Given the description of an element on the screen output the (x, y) to click on. 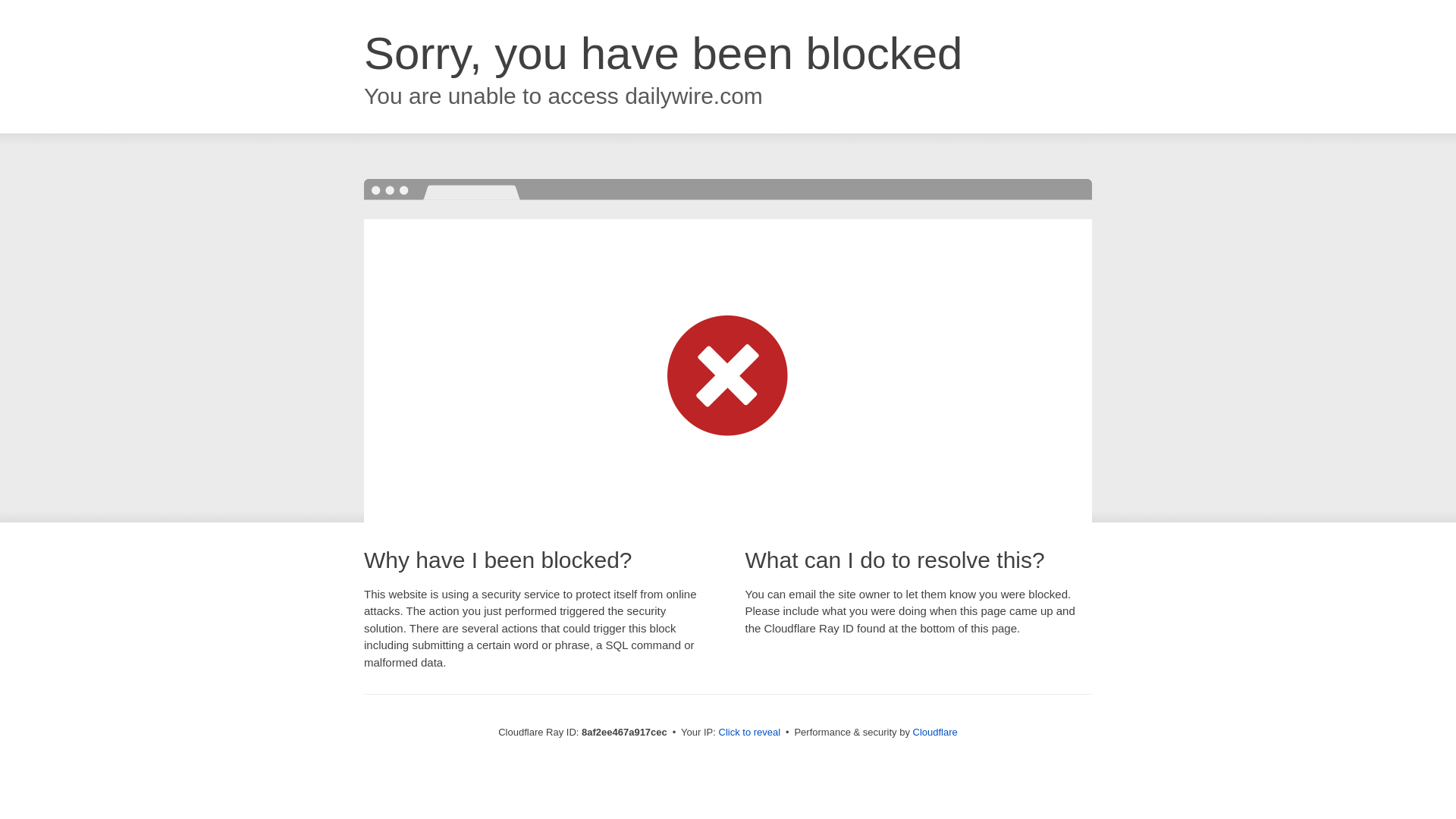
Cloudflare (935, 731)
Click to reveal (749, 732)
